Given the description of an element on the screen output the (x, y) to click on. 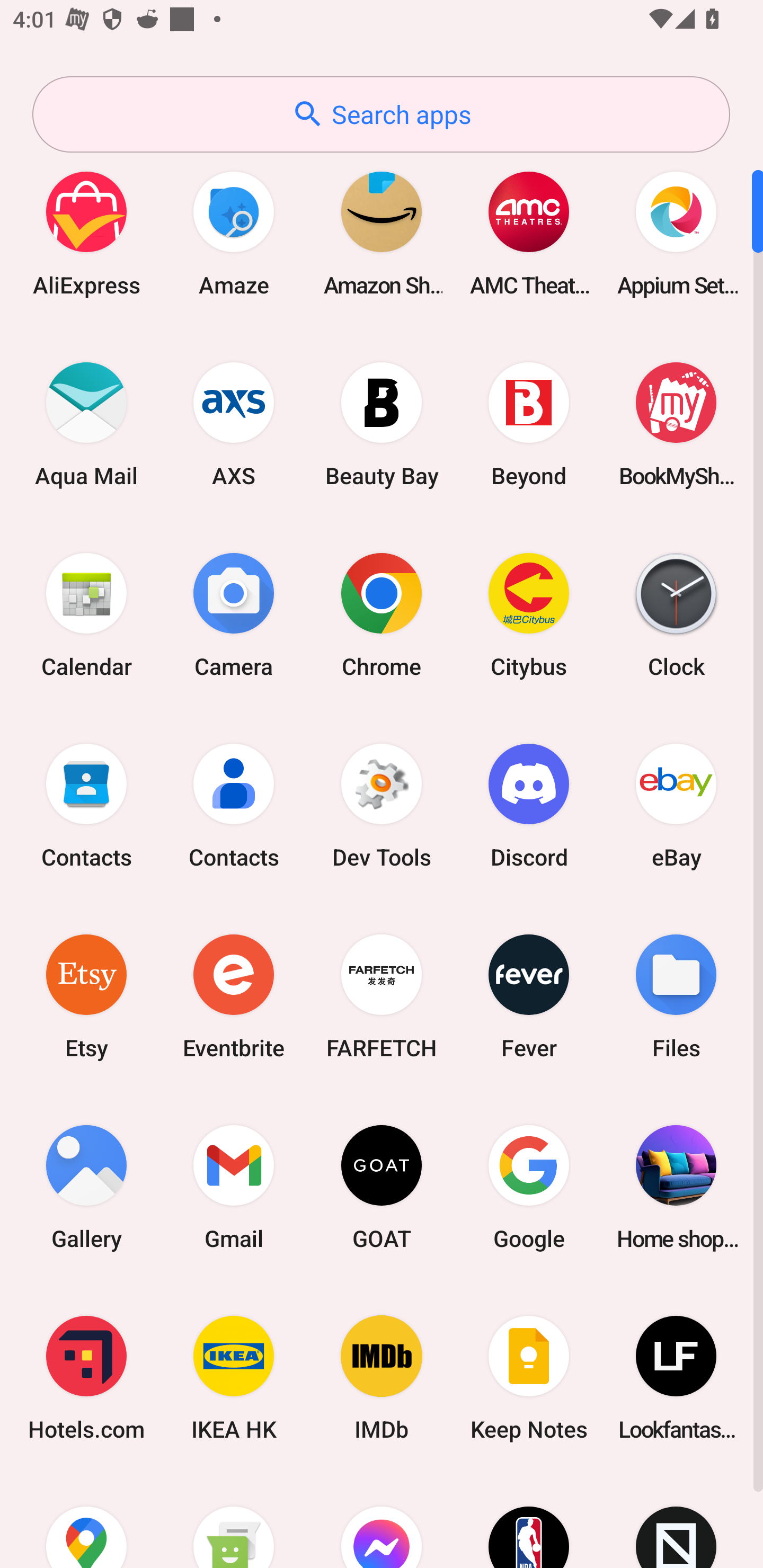
  Search apps (381, 114)
AliExpress (86, 233)
Amaze (233, 233)
Amazon Shopping (381, 233)
AMC Theatres (528, 233)
Appium Settings (676, 233)
Aqua Mail (86, 424)
AXS (233, 424)
Beauty Bay (381, 424)
Beyond (528, 424)
BookMyShow (676, 424)
Calendar (86, 614)
Camera (233, 614)
Chrome (381, 614)
Citybus (528, 614)
Clock (676, 614)
Contacts (86, 805)
Contacts (233, 805)
Dev Tools (381, 805)
Discord (528, 805)
eBay (676, 805)
Etsy (86, 996)
Eventbrite (233, 996)
FARFETCH (381, 996)
Fever (528, 996)
Files (676, 996)
Gallery (86, 1186)
Gmail (233, 1186)
GOAT (381, 1186)
Google (528, 1186)
Home shopping (676, 1186)
Hotels.com (86, 1377)
IKEA HK (233, 1377)
IMDb (381, 1377)
Keep Notes (528, 1377)
Lookfantastic (676, 1377)
